Given the description of an element on the screen output the (x, y) to click on. 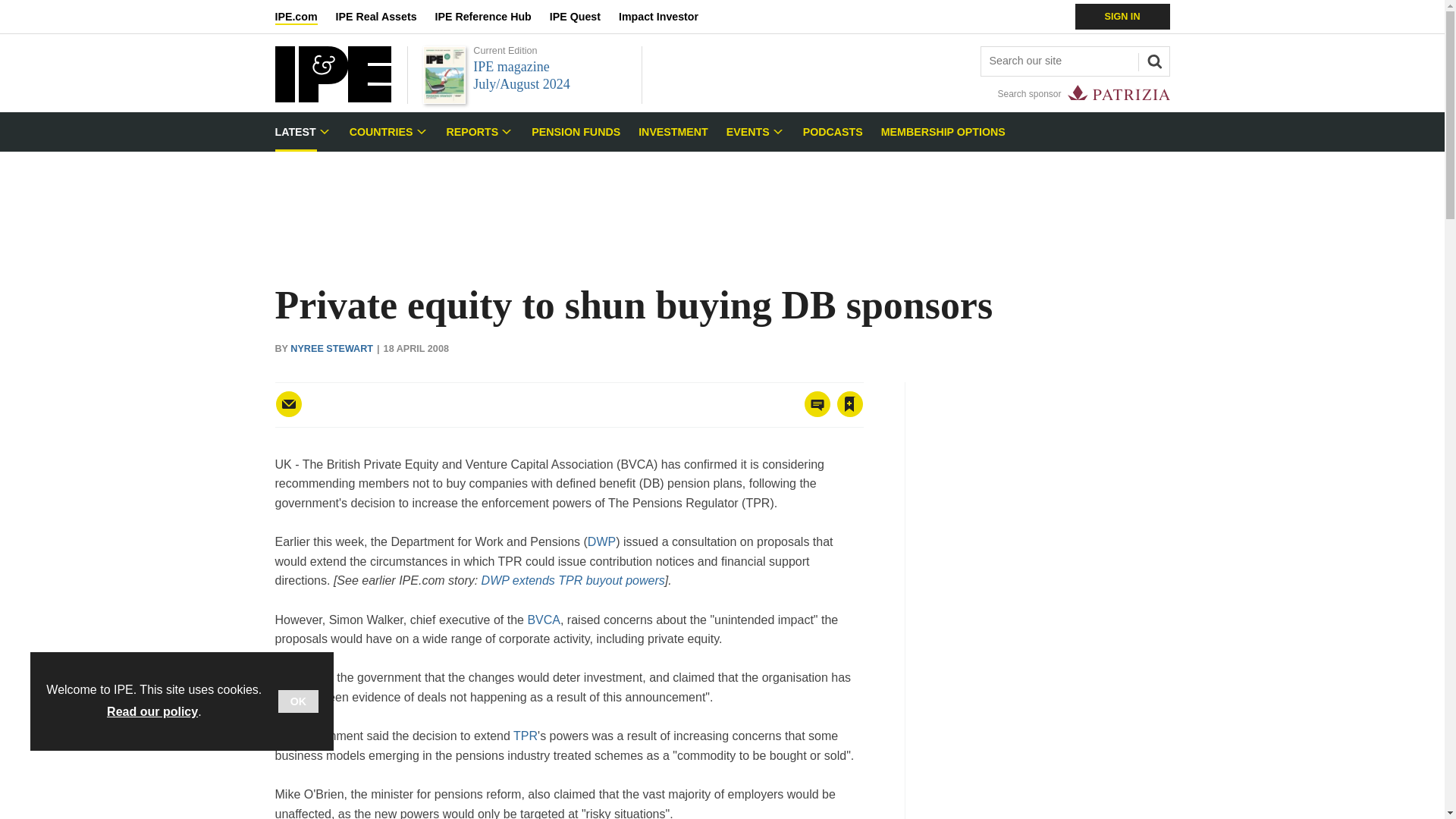
IPE Quest (583, 16)
Impact Investor (667, 16)
Read our policy (152, 711)
Email this article (288, 403)
IPE Real Assets (384, 16)
IPE Reference Hub (491, 16)
IPE Quest (583, 16)
IPE (332, 97)
IPE Reference Hub (491, 16)
Impact Investor (667, 16)
IPE Real Assets (384, 16)
SIGN IN (1122, 16)
OK (298, 701)
SEARCH (1152, 59)
